Given the description of an element on the screen output the (x, y) to click on. 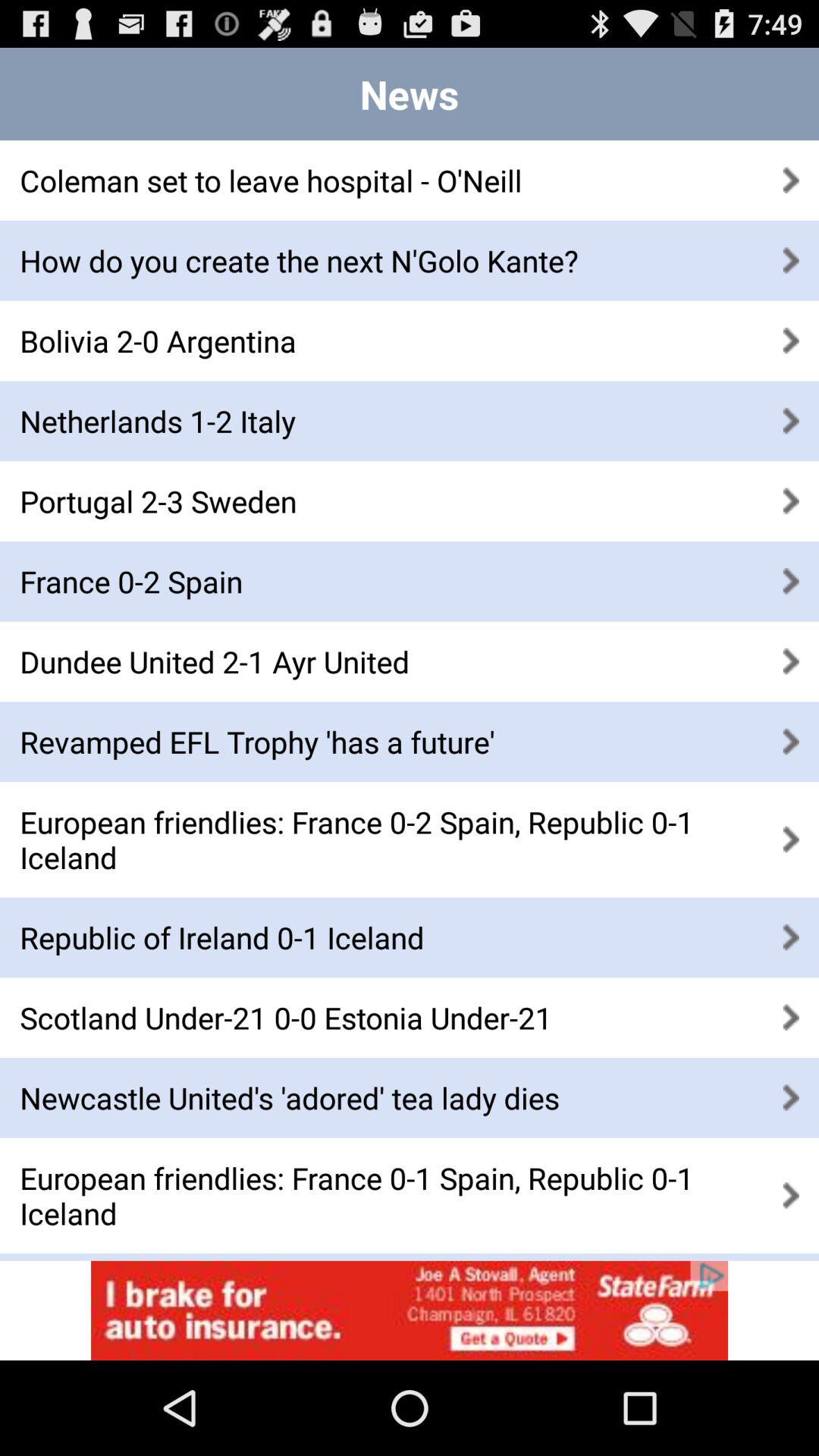
advertisement (409, 1310)
